Given the description of an element on the screen output the (x, y) to click on. 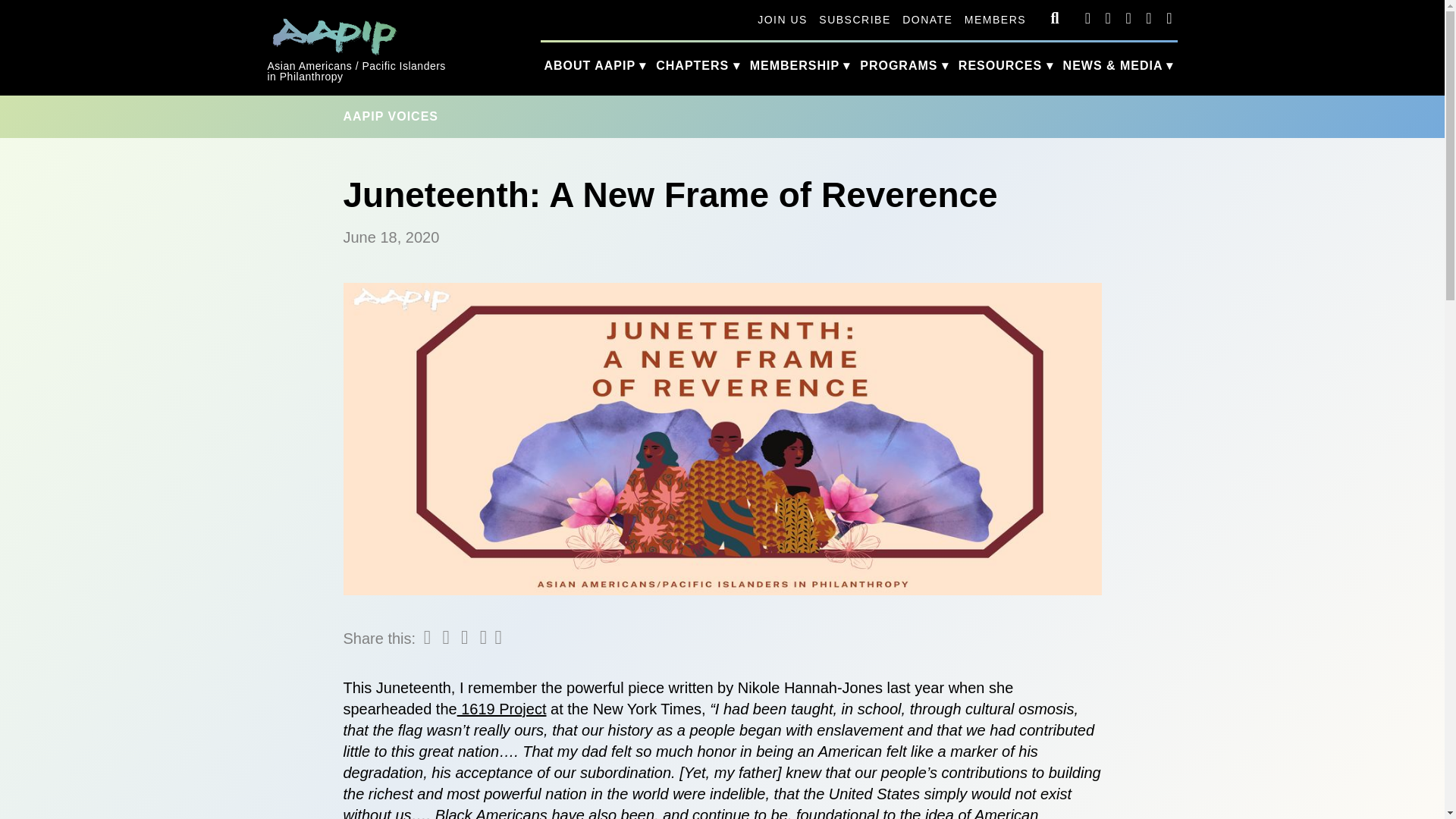
MEMBERSHIP (853, 19)
MEMBERS (799, 65)
Link to our Twitter page (994, 19)
Juneteenth: A New Frame of Reverence (1127, 17)
Link to our Linkedin page (721, 589)
Search (1148, 17)
Link to our YouTube page (21, 7)
AAPIP (1168, 17)
Juneteenth: A New Frame of Reverence (334, 33)
